Given the description of an element on the screen output the (x, y) to click on. 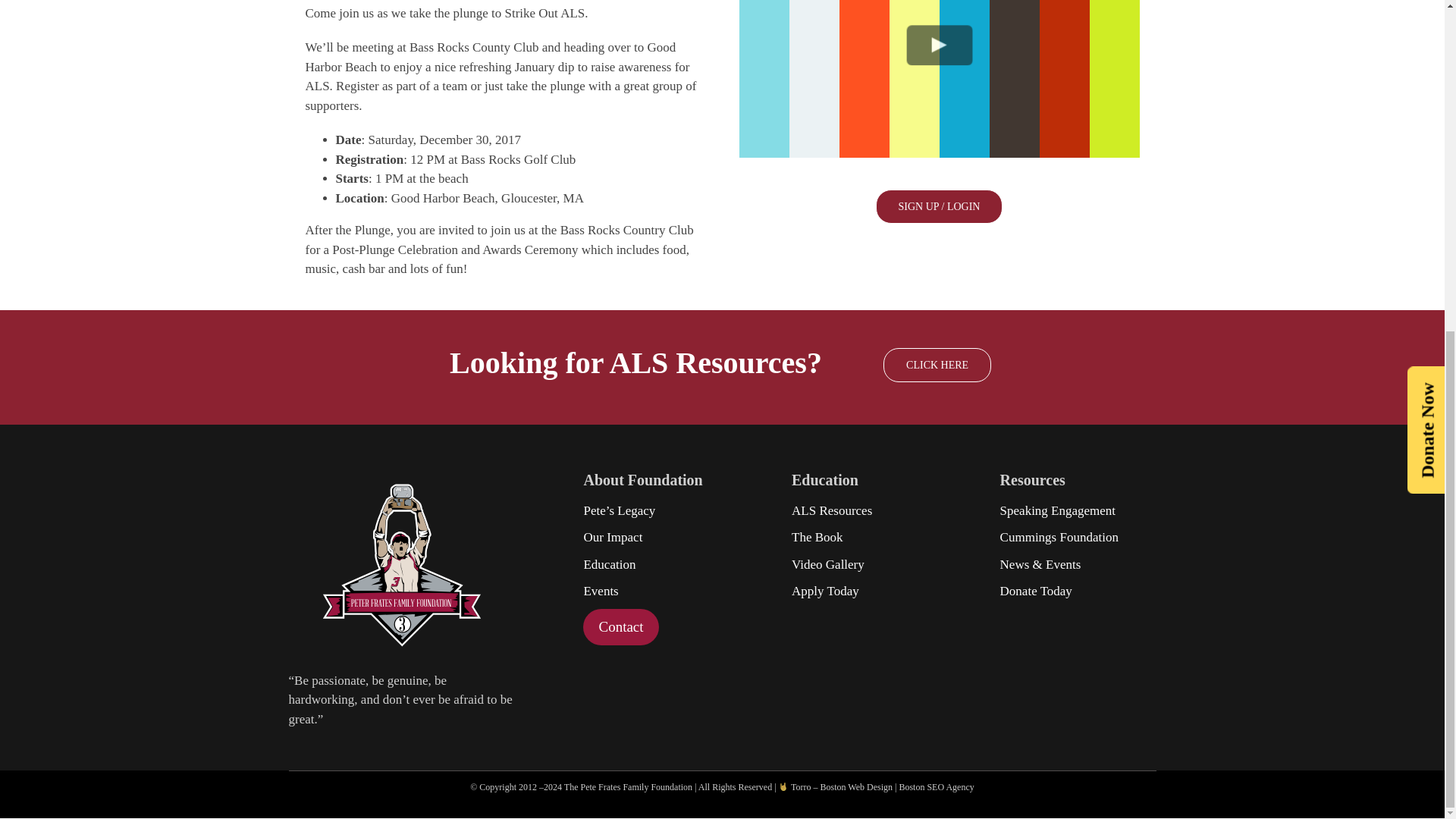
Boston SEO Agency (936, 787)
Boston Web Design (856, 787)
Education (652, 564)
CLICK HERE (937, 365)
Video Gallery (861, 564)
Cummings Foundation (1070, 537)
Donate Today (1070, 591)
Speaking Engagement (1070, 510)
Events (652, 591)
Vimeo video player 1 (938, 79)
ALS Resources (861, 510)
Boston SEO Agency (936, 787)
Contact (620, 627)
Apply Today (861, 591)
The Book (861, 537)
